Given the description of an element on the screen output the (x, y) to click on. 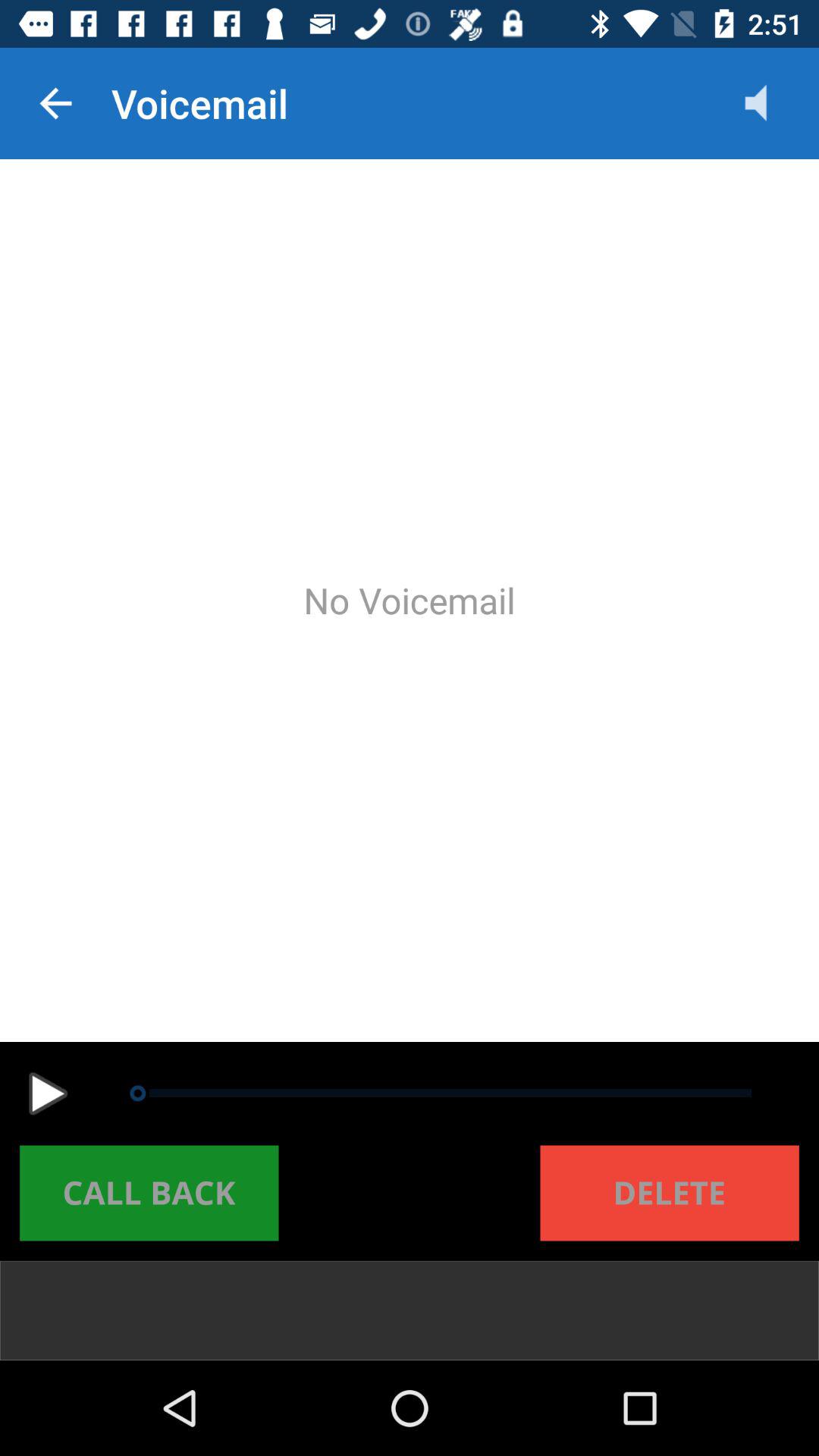
press icon above the no voicemail item (55, 103)
